Given the description of an element on the screen output the (x, y) to click on. 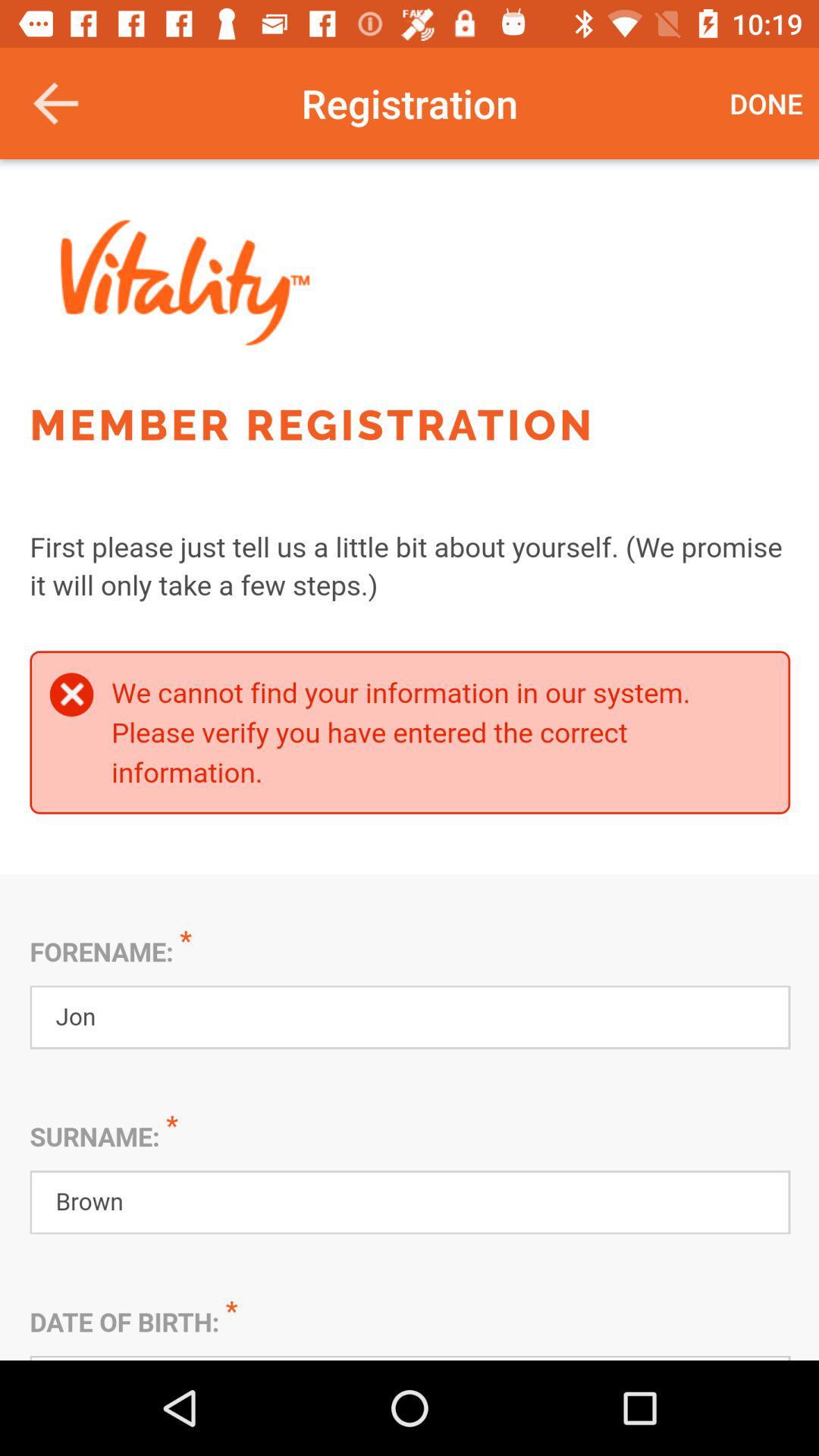
registration page (409, 759)
